Given the description of an element on the screen output the (x, y) to click on. 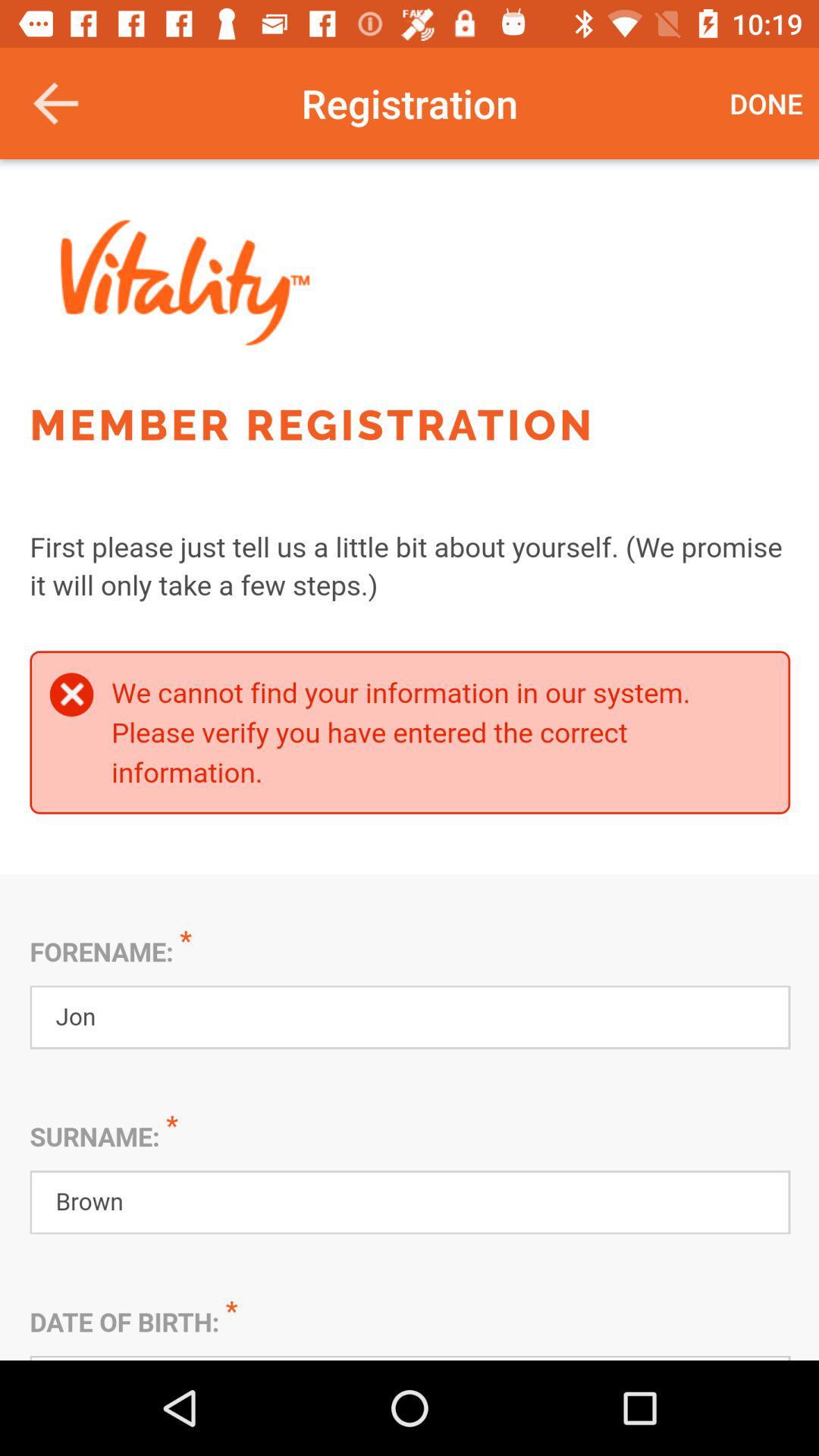
registration page (409, 759)
